Given the description of an element on the screen output the (x, y) to click on. 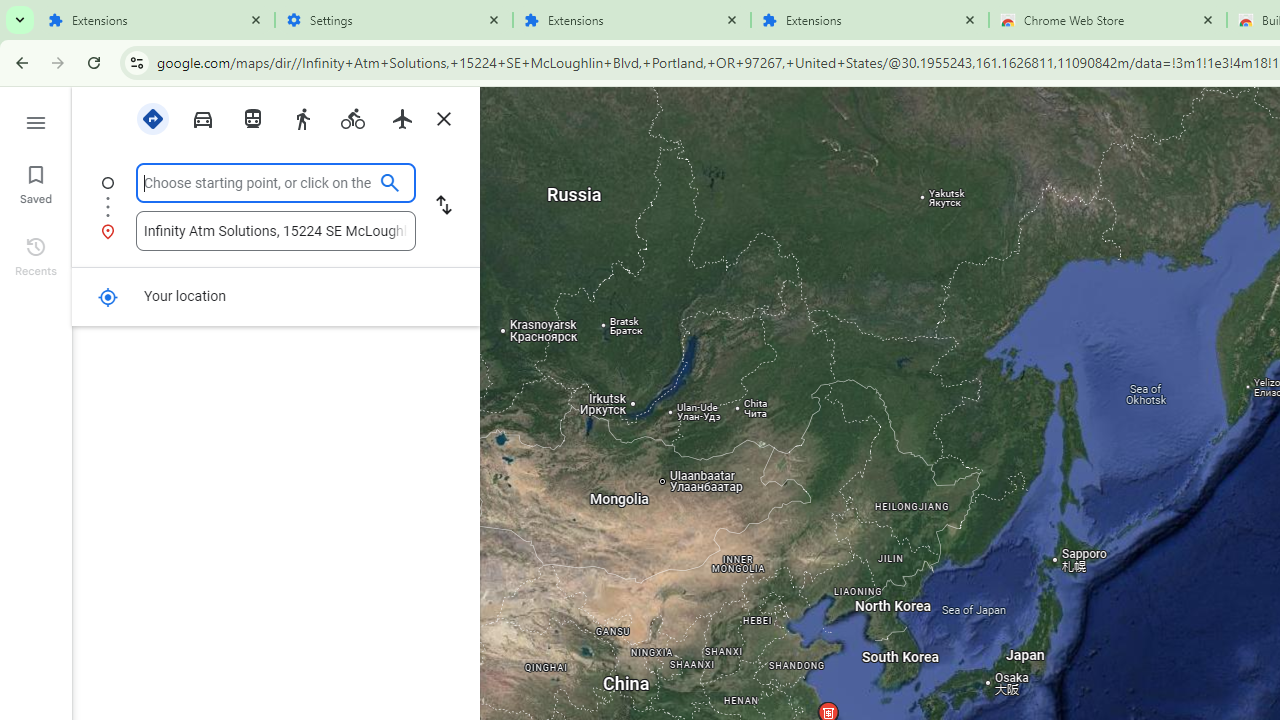
Best travel modes (152, 119)
Flights (402, 117)
Best travel modes (152, 117)
Settings (394, 20)
View site information (136, 62)
Cycling (352, 117)
Close (1208, 19)
Choose starting point, or click on the map... (258, 183)
Flights (402, 119)
Chrome Web Store (1108, 20)
System (10, 11)
Search (495, 231)
Extensions (632, 20)
Search tabs (20, 20)
AutomationID: sb_ifc50 (258, 182)
